Given the description of an element on the screen output the (x, y) to click on. 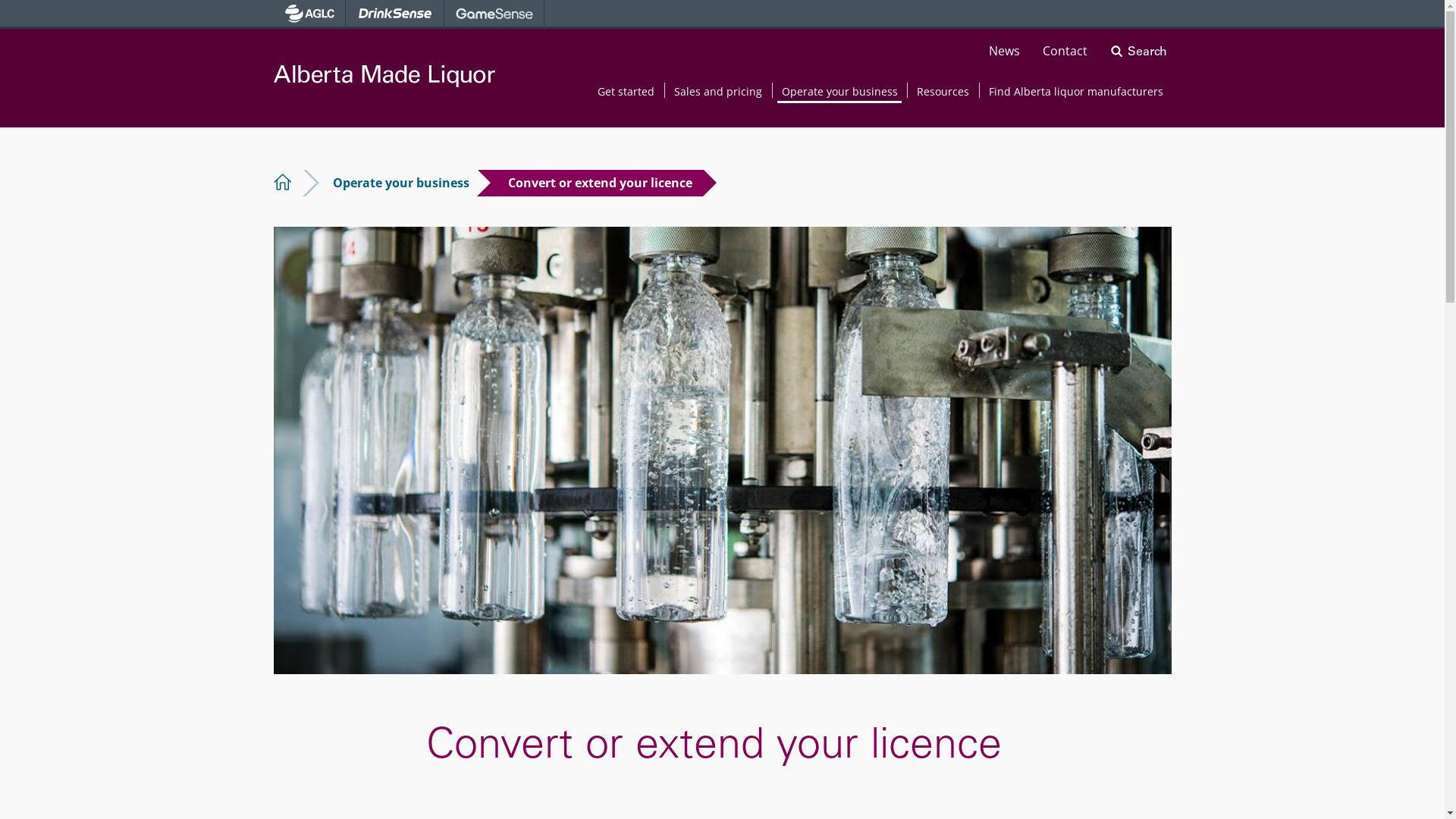
Sales and pricing Element type: text (717, 91)
Game Sense Element type: text (494, 14)
Go Element type: text (1141, 37)
Resources Element type: text (942, 91)
Contact Element type: text (1064, 50)
AGLC Element type: text (309, 14)
Get started Element type: text (626, 91)
Drink Sense Element type: text (394, 14)
News Element type: text (1003, 50)
Operate your business Element type: text (839, 91)
Operate your business Element type: text (400, 182)
Find Alberta liquor manufacturers Element type: text (1075, 91)
